Given the description of an element on the screen output the (x, y) to click on. 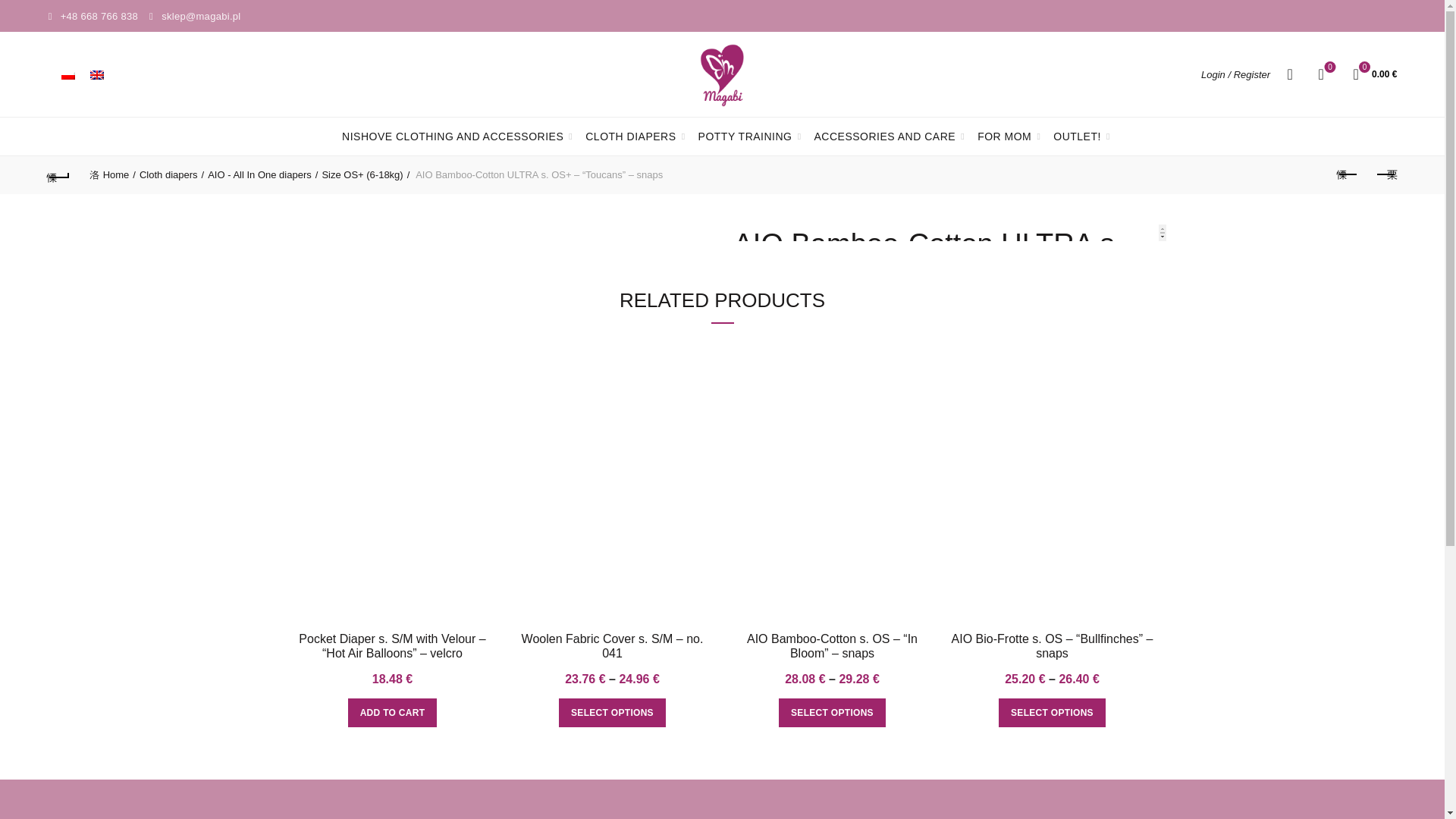
- (741, 518)
1 (763, 518)
